Given the description of an element on the screen output the (x, y) to click on. 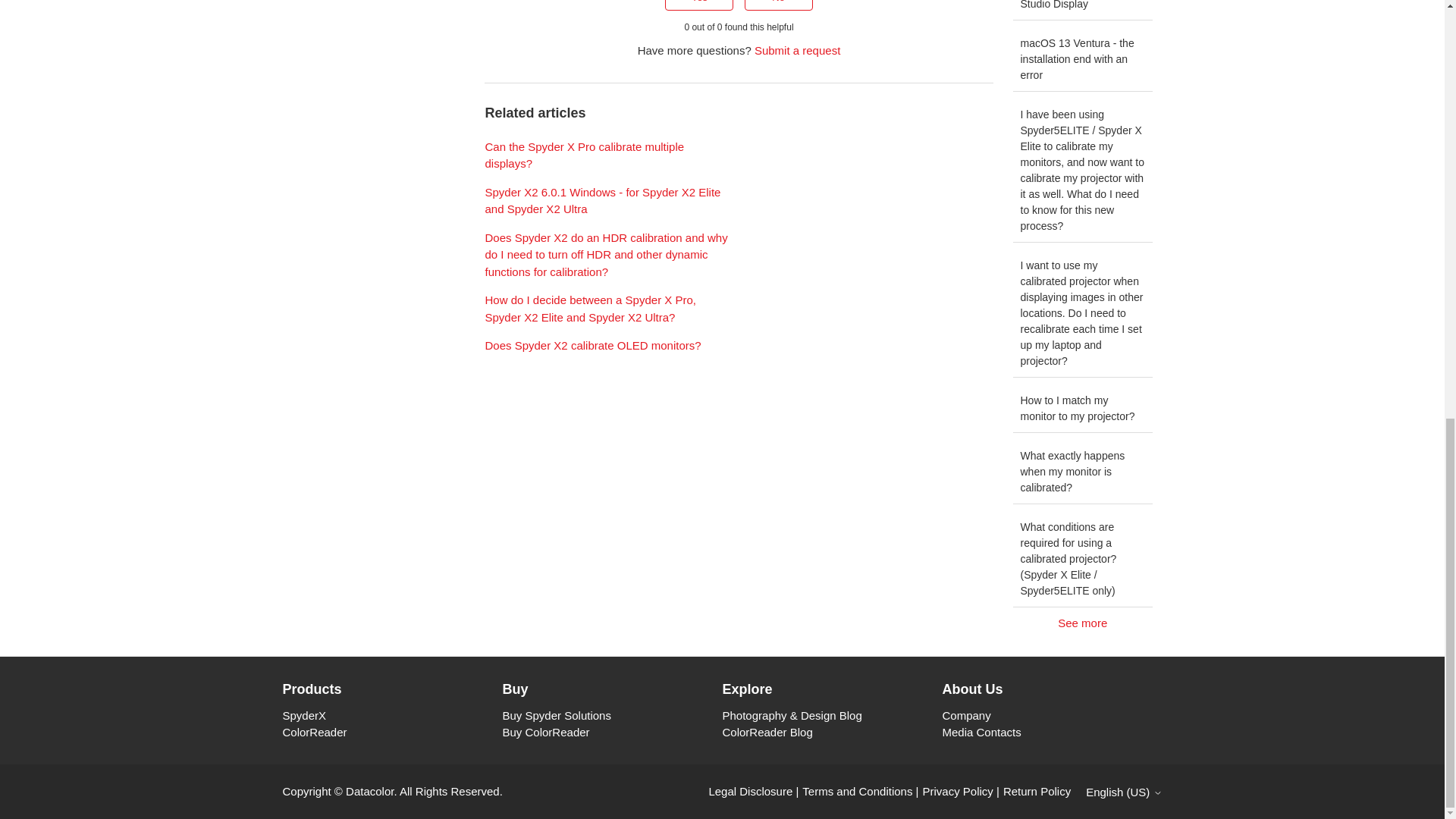
ColorReader (314, 731)
SpyderX (304, 715)
See more (1083, 623)
What exactly happens when my monitor is calibrated? (1083, 472)
How to I match my monitor to my projector? (1083, 408)
See more (1083, 623)
